Given the description of an element on the screen output the (x, y) to click on. 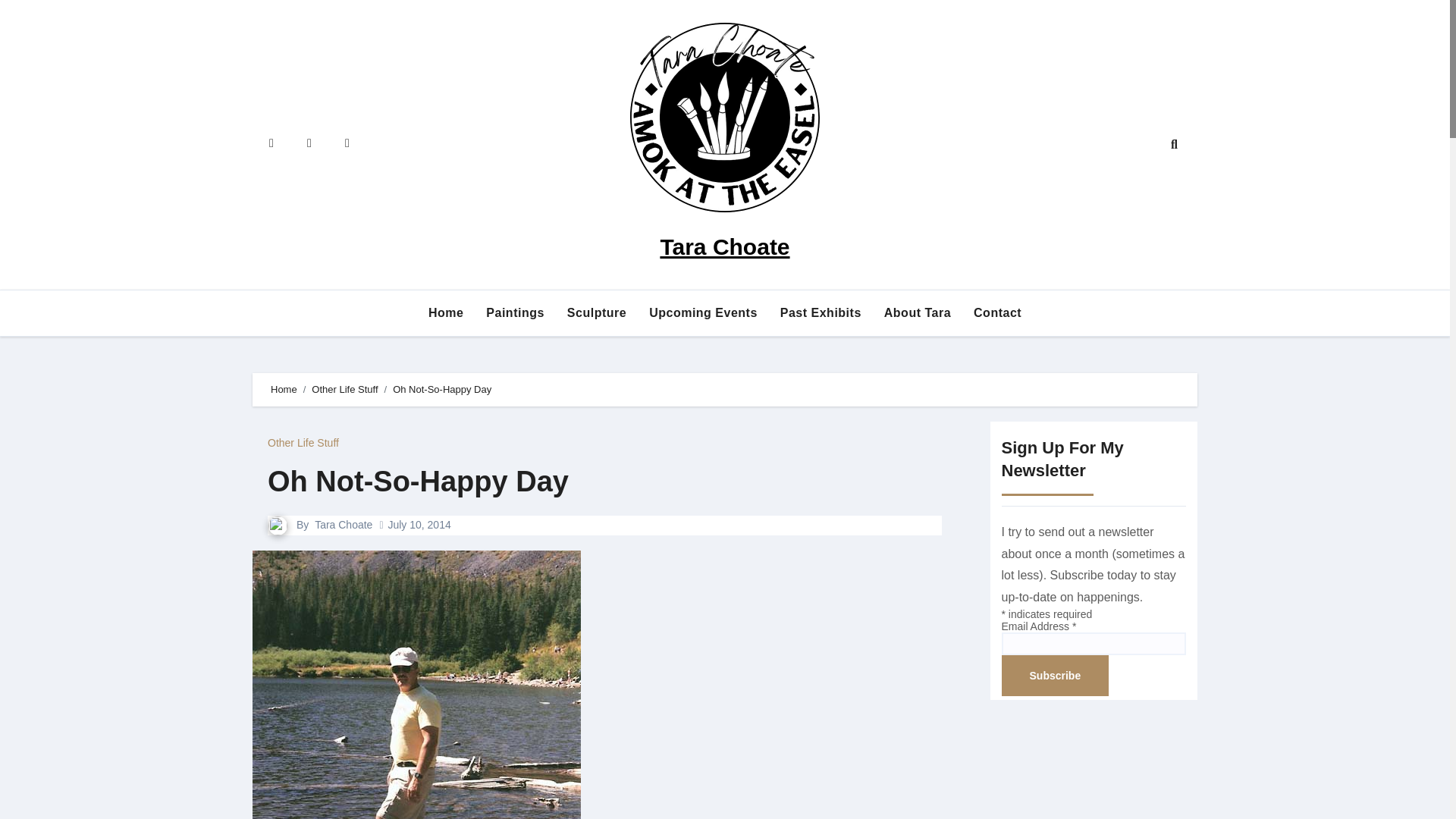
Sculpture (596, 313)
Past Exhibits (820, 313)
Paintings (515, 313)
Tara Choate (343, 524)
Permalink to: Oh Not-So-Happy Day (418, 481)
Home (445, 313)
Paintings (515, 313)
About Tara (917, 313)
Other Life Stuff (344, 389)
Subscribe (1054, 675)
Contact (997, 313)
July 10, 2014 (418, 524)
About Tara (917, 313)
Contact (997, 313)
Oh Not-So-Happy Day (418, 481)
